Given the description of an element on the screen output the (x, y) to click on. 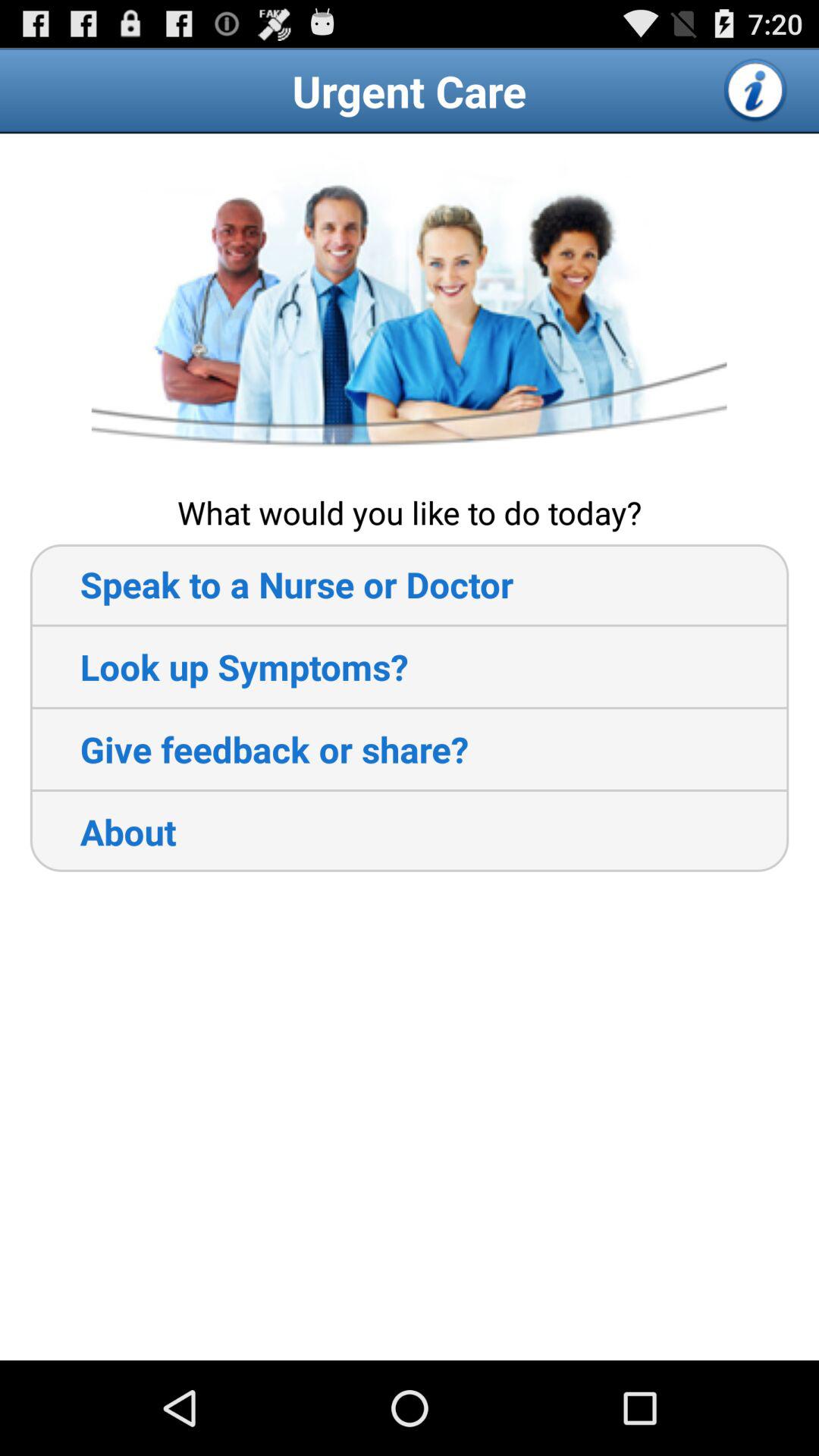
tap the app below what would you item (271, 584)
